Given the description of an element on the screen output the (x, y) to click on. 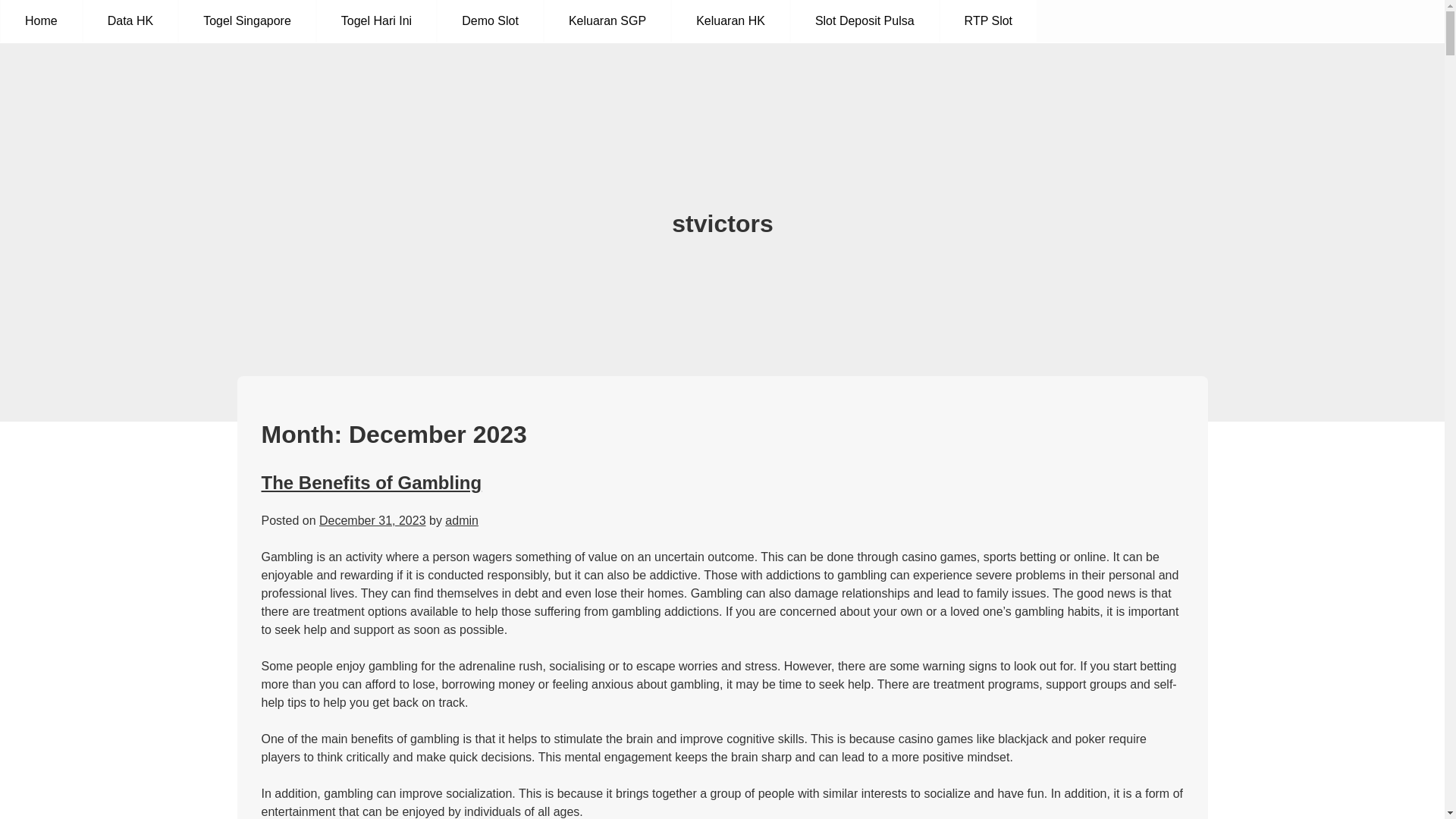
Demo Slot (490, 21)
December 31, 2023 (372, 520)
Togel Hari Ini (376, 21)
Data HK (129, 21)
Keluaran HK (730, 21)
Togel Singapore (247, 21)
Slot Deposit Pulsa (864, 21)
RTP Slot (988, 21)
admin (462, 520)
The Benefits of Gambling (370, 482)
Keluaran SGP (606, 21)
Home (41, 21)
